Given the description of an element on the screen output the (x, y) to click on. 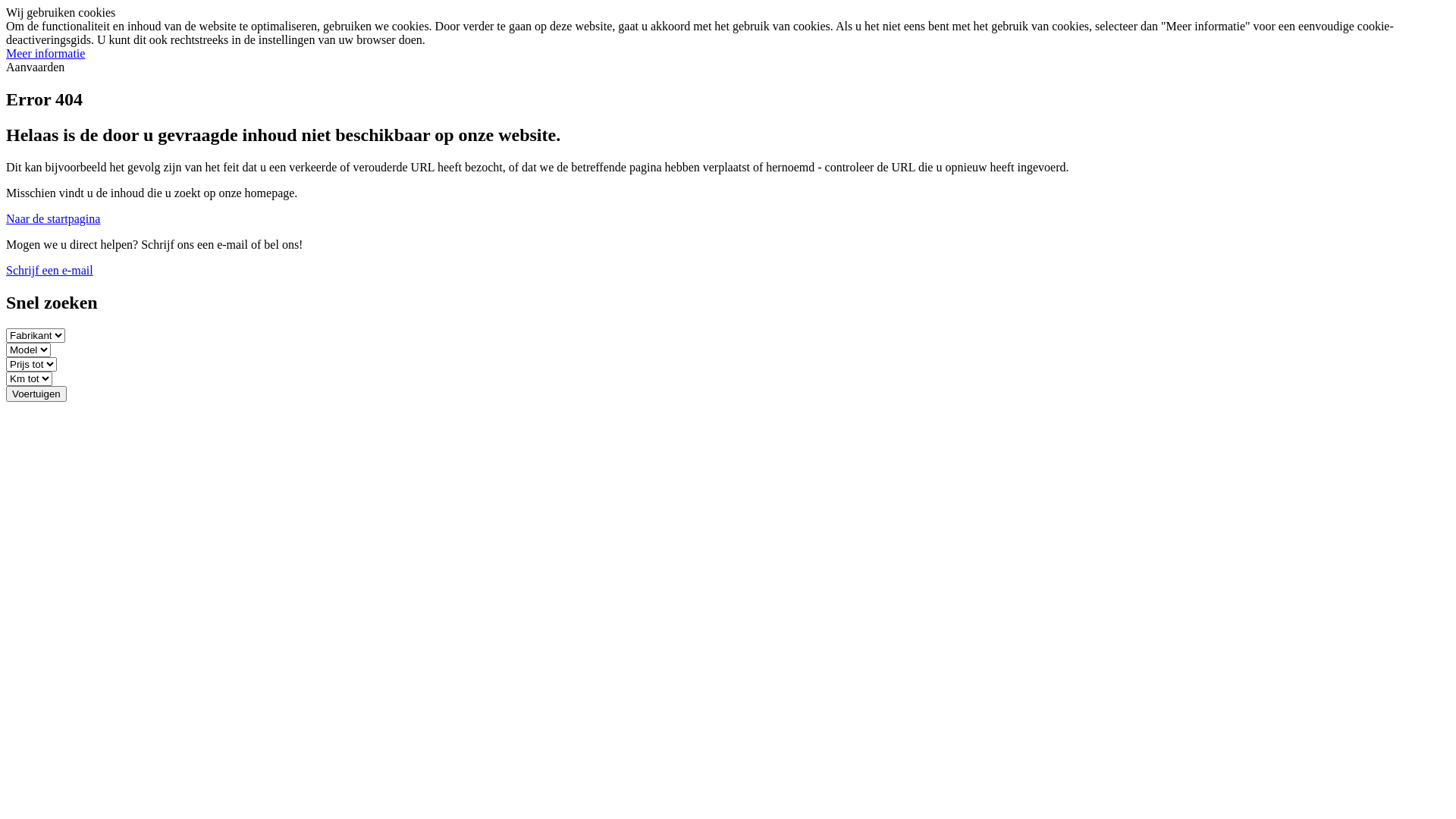
Schrijf een e-mail Element type: text (49, 269)
Voertuigen Element type: text (36, 393)
Meer informatie Element type: text (45, 53)
Aanvaarden Element type: text (35, 66)
Naar de startpagina Element type: text (53, 218)
